Given the description of an element on the screen output the (x, y) to click on. 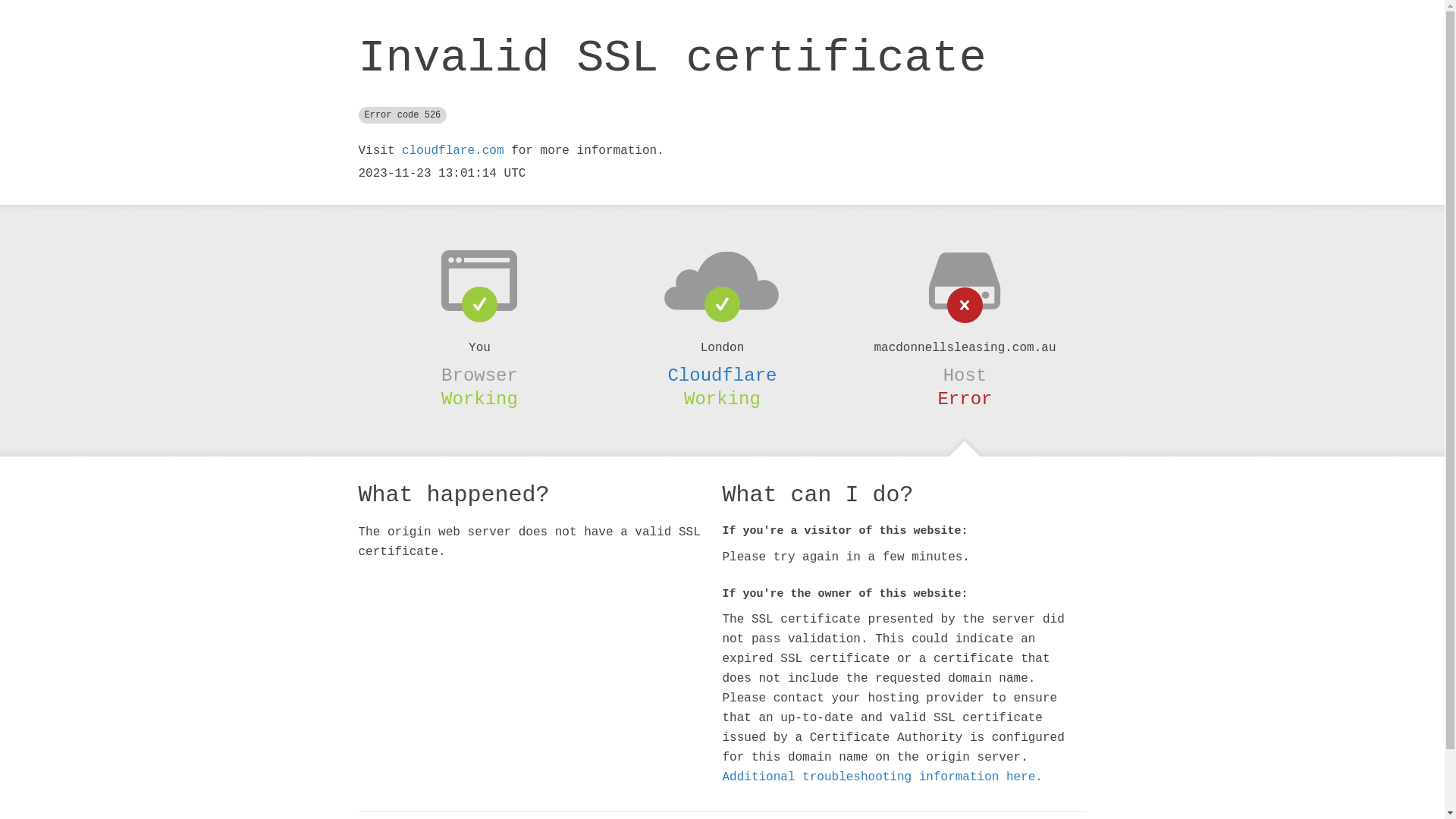
Cloudflare Element type: text (721, 375)
Additional troubleshooting information here. Element type: text (881, 777)
cloudflare.com Element type: text (452, 150)
